Given the description of an element on the screen output the (x, y) to click on. 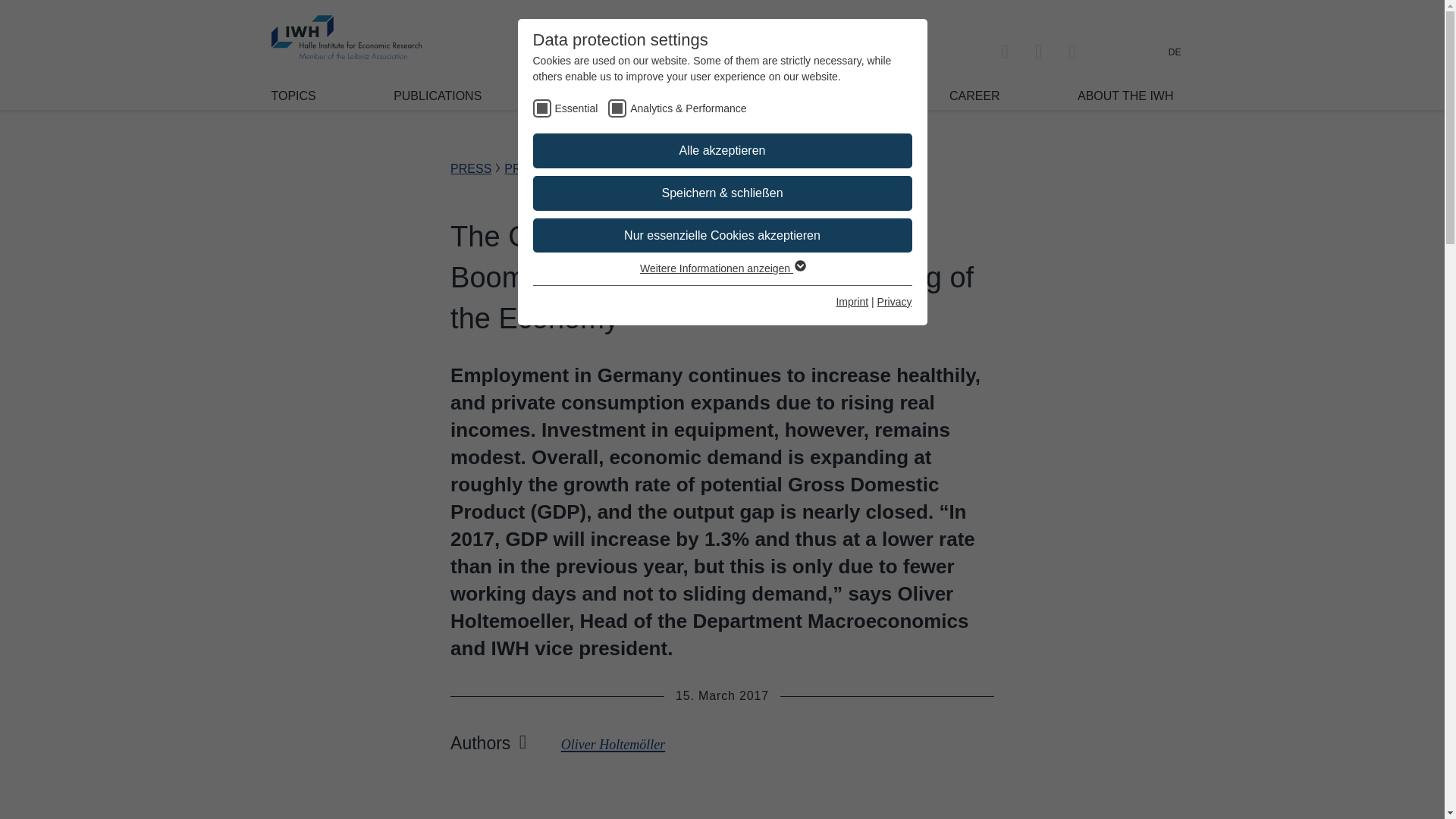
DE (1174, 51)
TOPICS (292, 96)
PUBLICATIONS (437, 96)
RESEARCH (593, 96)
